Given the description of an element on the screen output the (x, y) to click on. 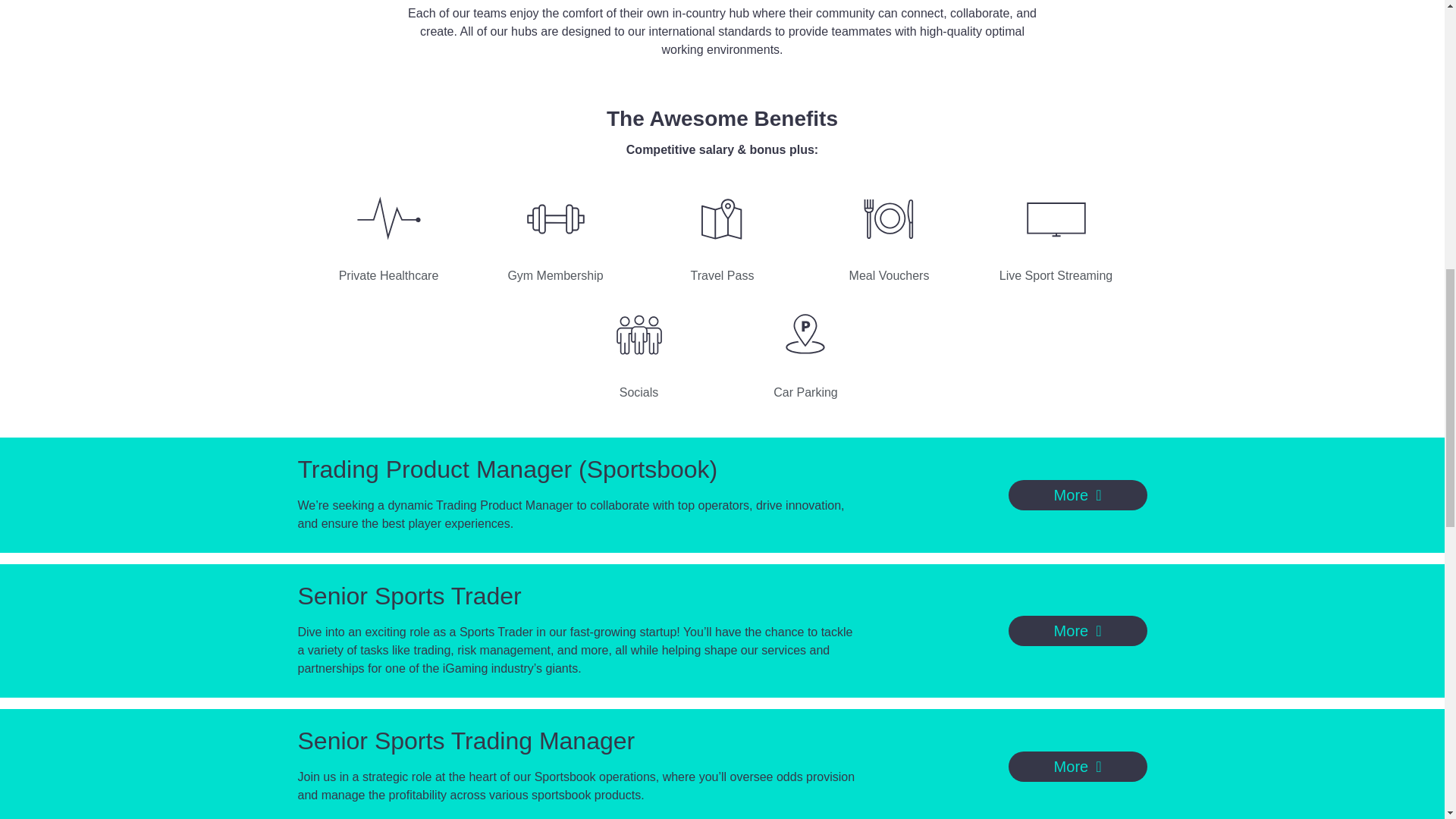
More (1078, 630)
More (1078, 766)
More (1078, 494)
